Given the description of an element on the screen output the (x, y) to click on. 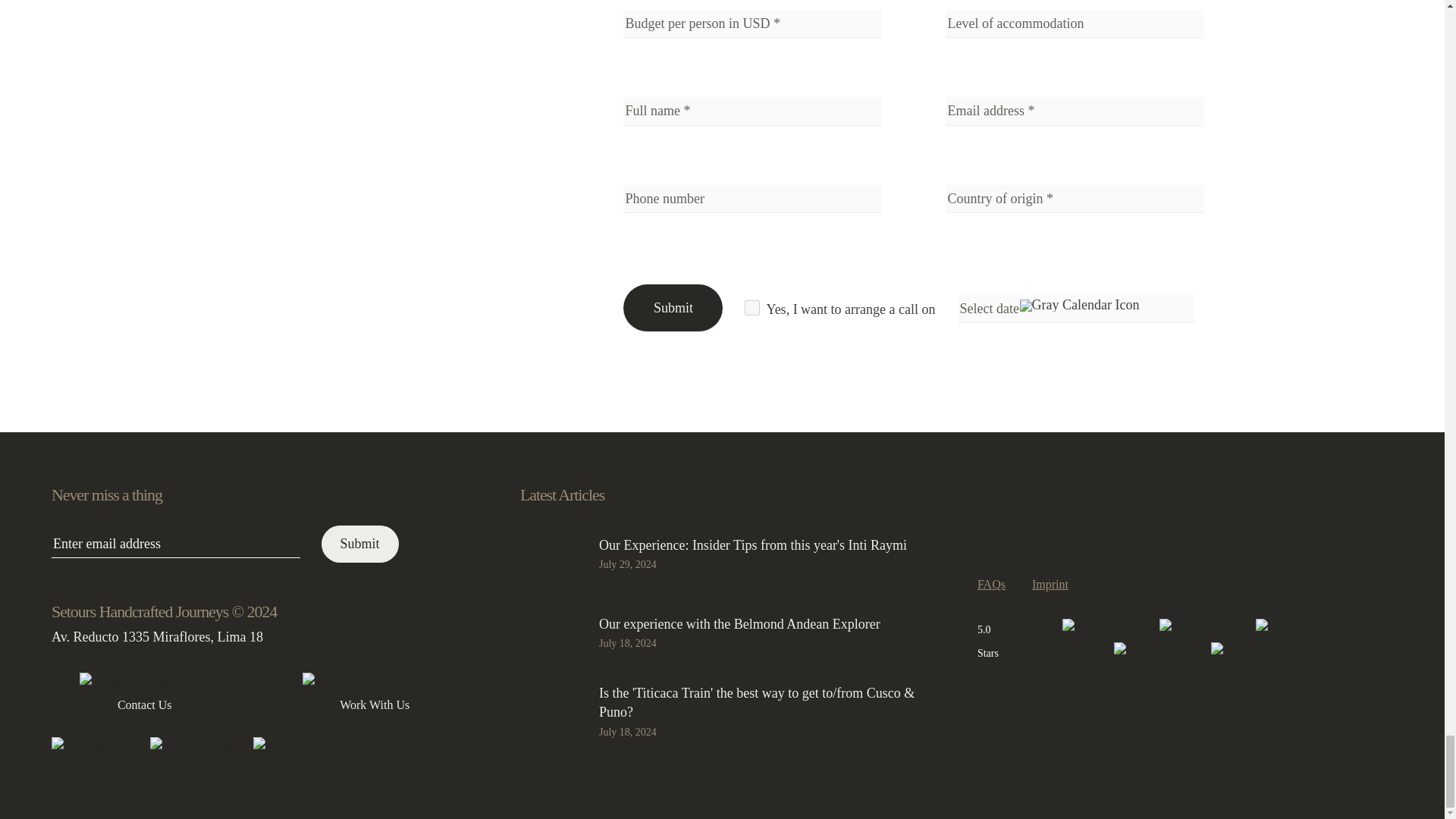
Submit (359, 544)
Submit (672, 308)
1 (752, 307)
